Given the description of an element on the screen output the (x, y) to click on. 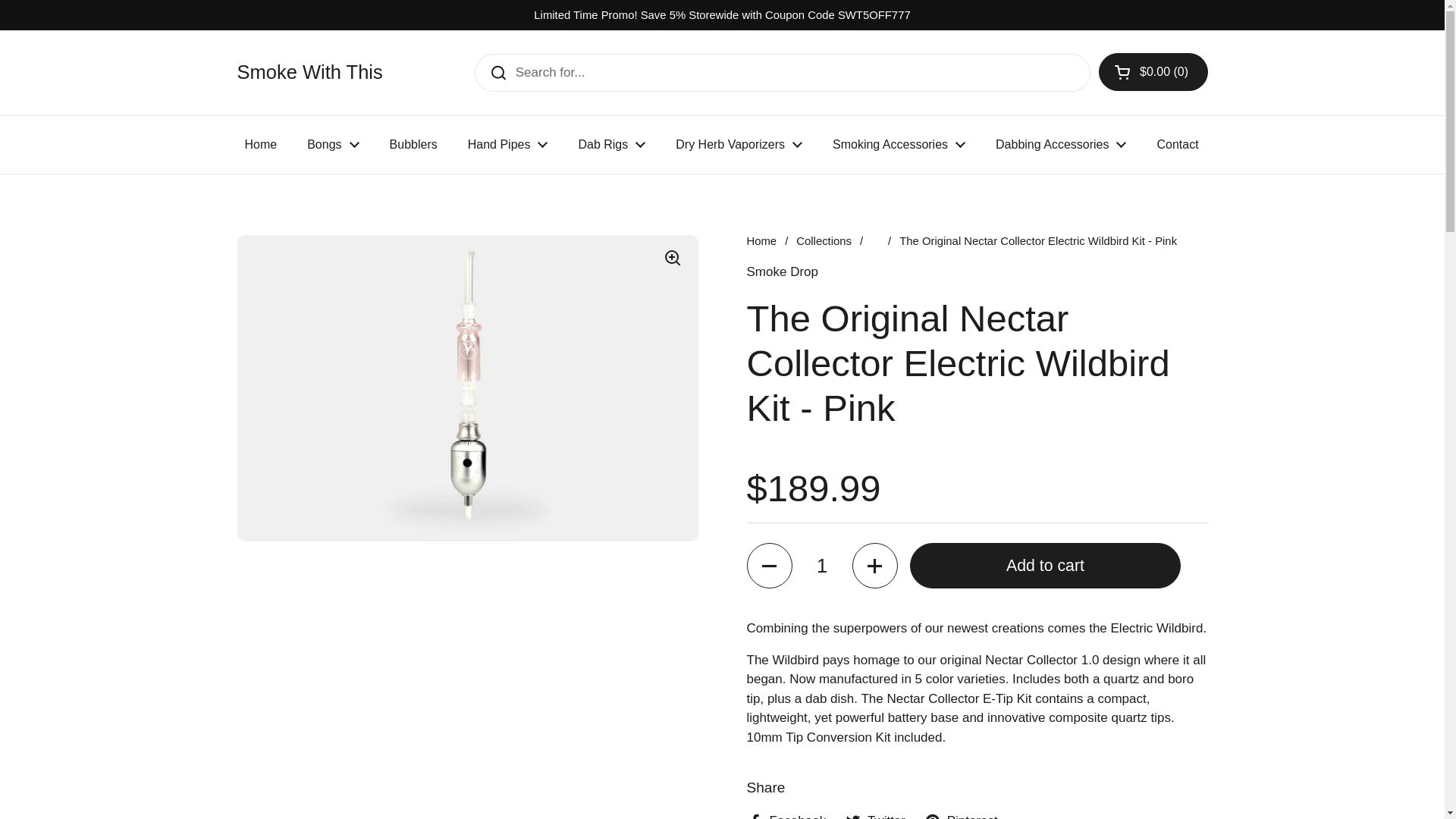
Hand Pipes (507, 144)
Share on facebook (785, 815)
Bubblers (413, 144)
1 (821, 565)
Home (260, 144)
Open cart (1153, 71)
Smoke With This (308, 72)
Smoke With This (308, 72)
Bongs (333, 144)
Share on twitter (874, 815)
Share on pinterest (960, 815)
